Given the description of an element on the screen output the (x, y) to click on. 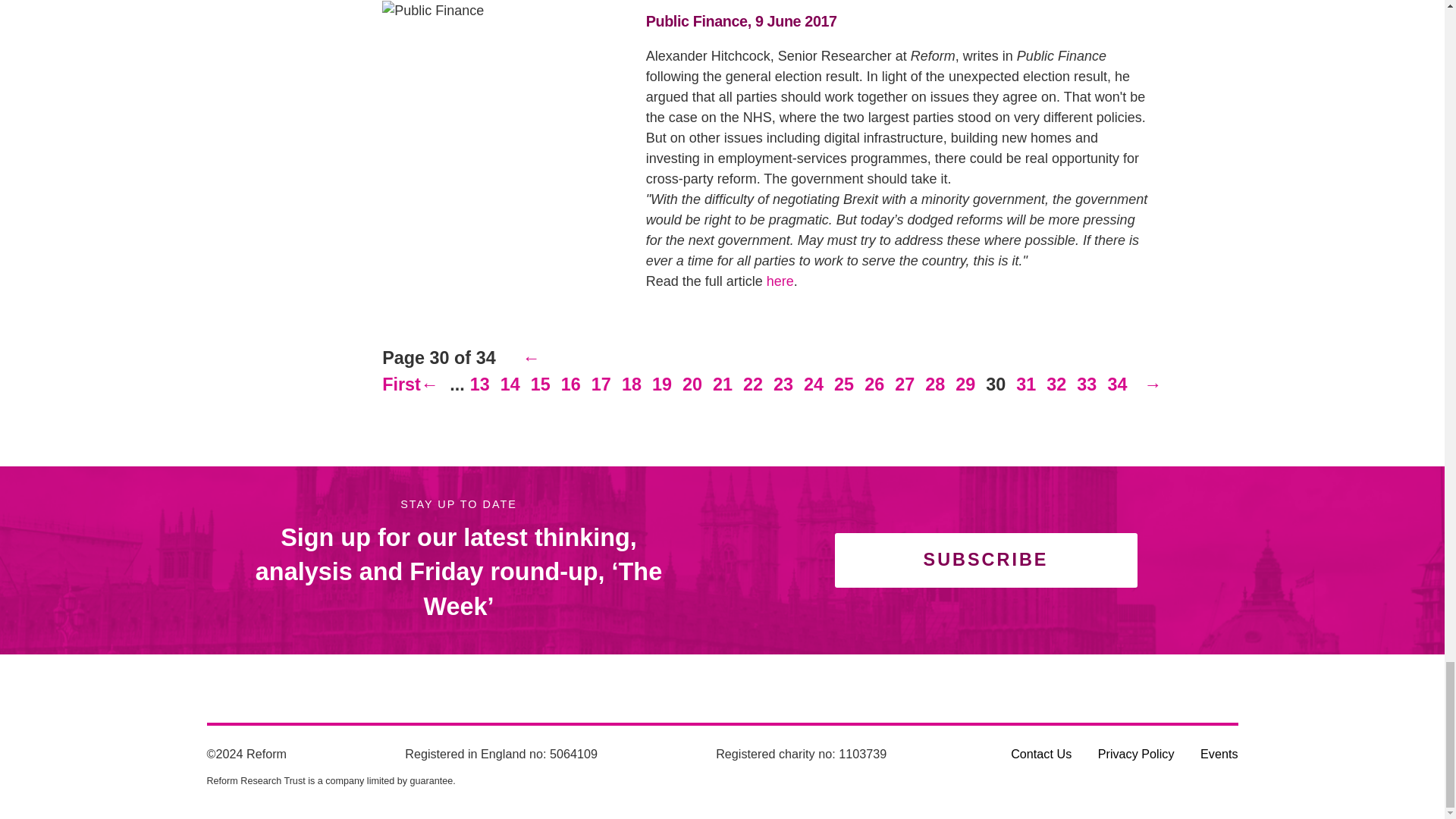
Page 13 (479, 383)
Page 25 (843, 383)
Page 24 (812, 383)
Page 23 (782, 383)
Page 27 (904, 383)
Page 26 (874, 383)
Page 20 (692, 383)
Page 14 (510, 383)
Page 21 (722, 383)
Page 28 (935, 383)
